Given the description of an element on the screen output the (x, y) to click on. 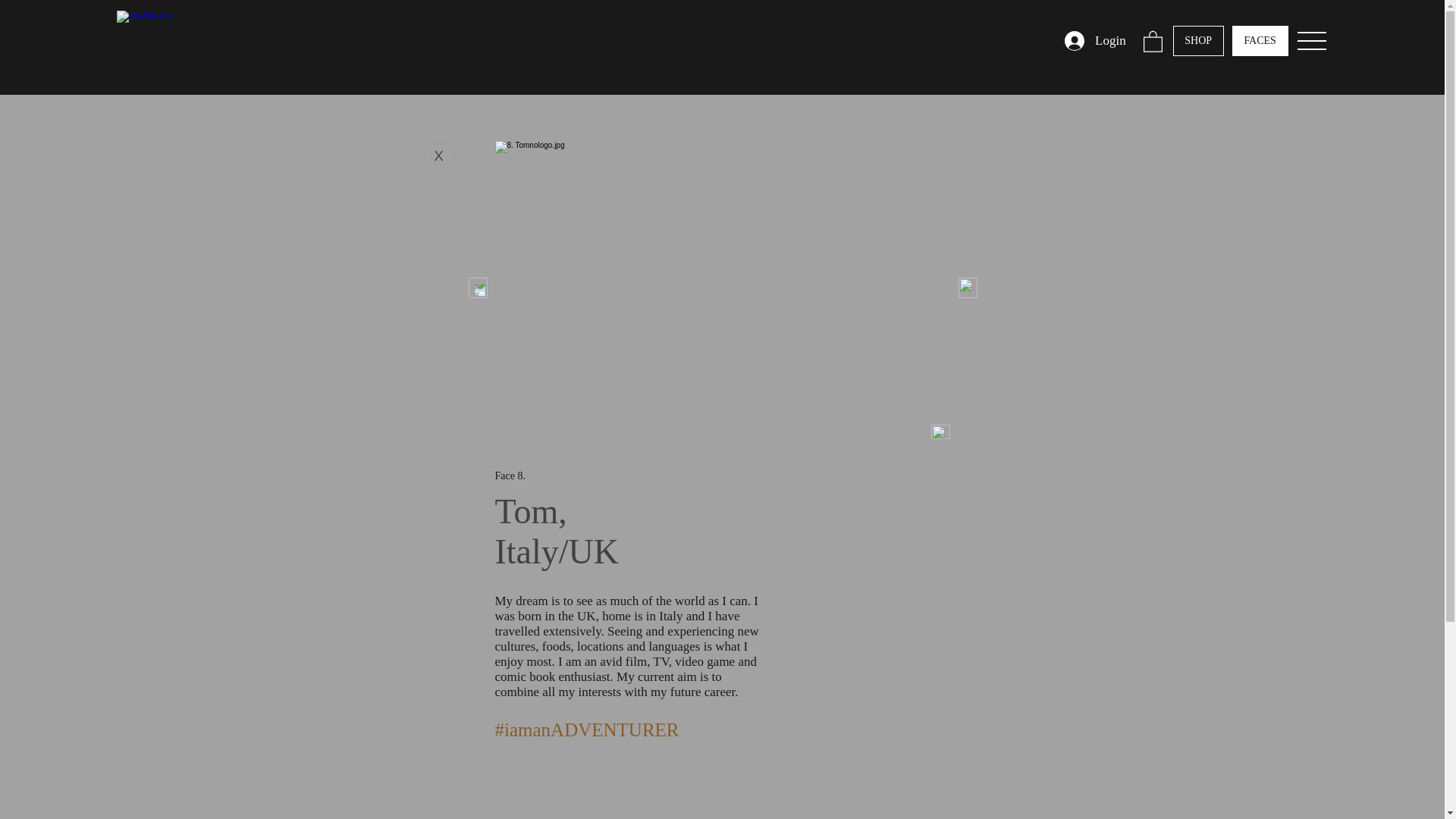
FACES (1259, 40)
X (437, 155)
Login (1095, 40)
SHOP (1198, 40)
